Given the description of an element on the screen output the (x, y) to click on. 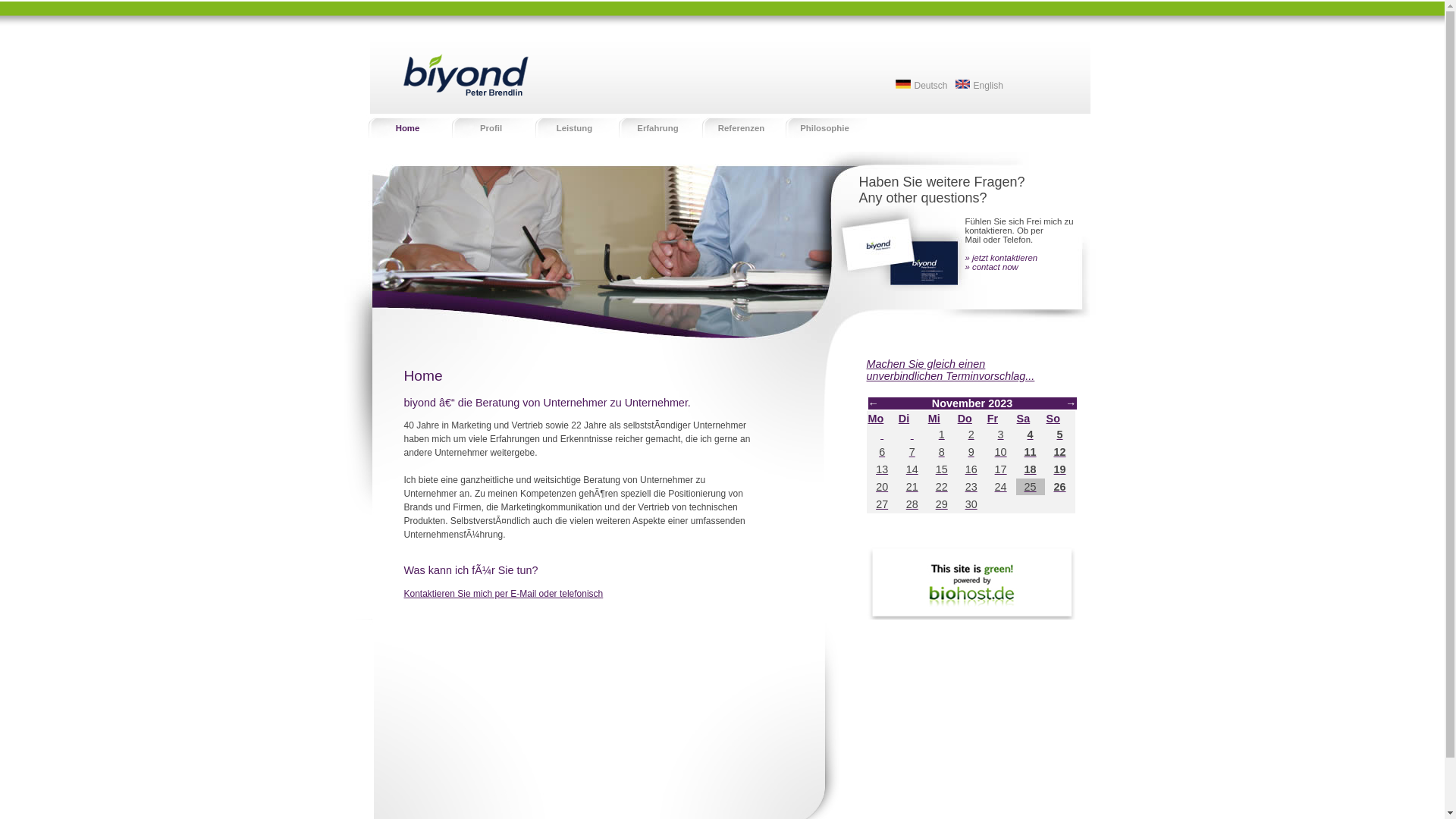
2 Element type: text (971, 434)
biohostlogo Element type: hover (970, 582)
Deutsch Element type: text (920, 85)
21 Element type: text (912, 486)
14 Element type: text (912, 469)
19 Element type: text (1060, 469)
3 Element type: text (1000, 434)
Kontaktieren Sie mich per E-Mail oder telefonisch Element type: text (502, 593)
23 Element type: text (971, 486)
7 Element type: text (912, 451)
24 Element type: text (1000, 486)
9 Element type: text (971, 451)
15 Element type: text (941, 469)
Leistung Element type: text (573, 126)
Profil Element type: text (490, 126)
29 Element type: text (941, 504)
Home Element type: text (406, 126)
28 Element type: text (912, 504)
22 Element type: text (941, 486)
8 Element type: text (941, 451)
biyond - Peter Brendlin Element type: hover (450, 61)
12 Element type: text (1060, 451)
25 Element type: text (1030, 486)
13 Element type: text (881, 469)
27 Element type: text (881, 504)
10 Element type: text (1000, 451)
20 Element type: text (881, 486)
26 Element type: text (1060, 486)
11 Element type: text (1030, 451)
Philosophie Element type: text (824, 126)
6 Element type: text (881, 451)
16 Element type: text (971, 469)
English Element type: text (979, 85)
17 Element type: text (1000, 469)
Erfahrung Element type: text (657, 126)
5 Element type: text (1060, 434)
18 Element type: text (1030, 469)
4 Element type: text (1030, 434)
Referenzen Element type: text (740, 126)
30 Element type: text (971, 504)
1 Element type: text (941, 434)
